Given the description of an element on the screen output the (x, y) to click on. 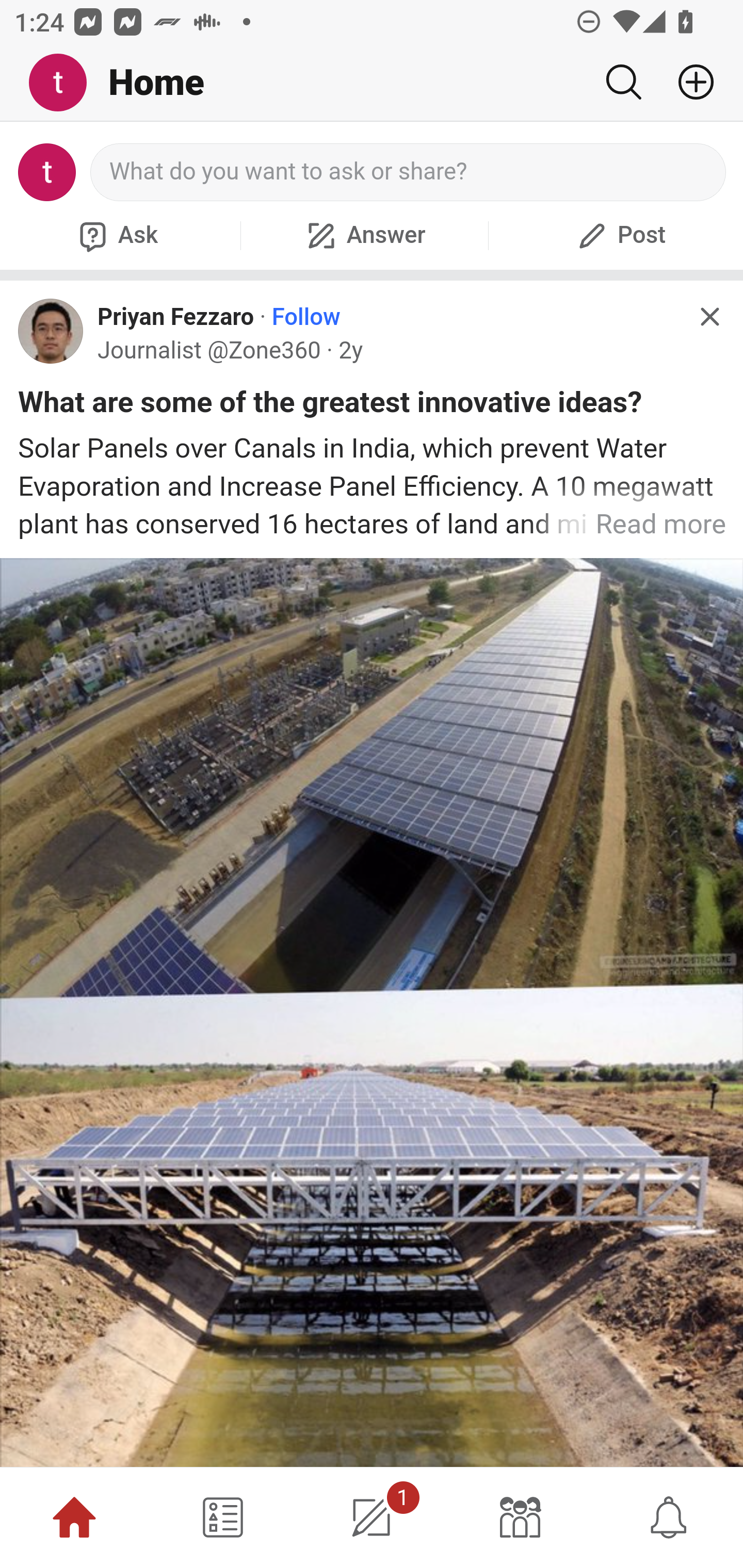
Me Home Search Add (371, 82)
Me (64, 83)
Search (623, 82)
Add (688, 82)
What do you want to ask or share? (408, 172)
Ask (116, 234)
Answer (364, 234)
Post (618, 234)
Hide (709, 316)
Profile photo for Priyan Fezzaro (50, 330)
Priyan Fezzaro (175, 316)
Follow (306, 316)
2y 2 y (350, 350)
1 (371, 1517)
